Given the description of an element on the screen output the (x, y) to click on. 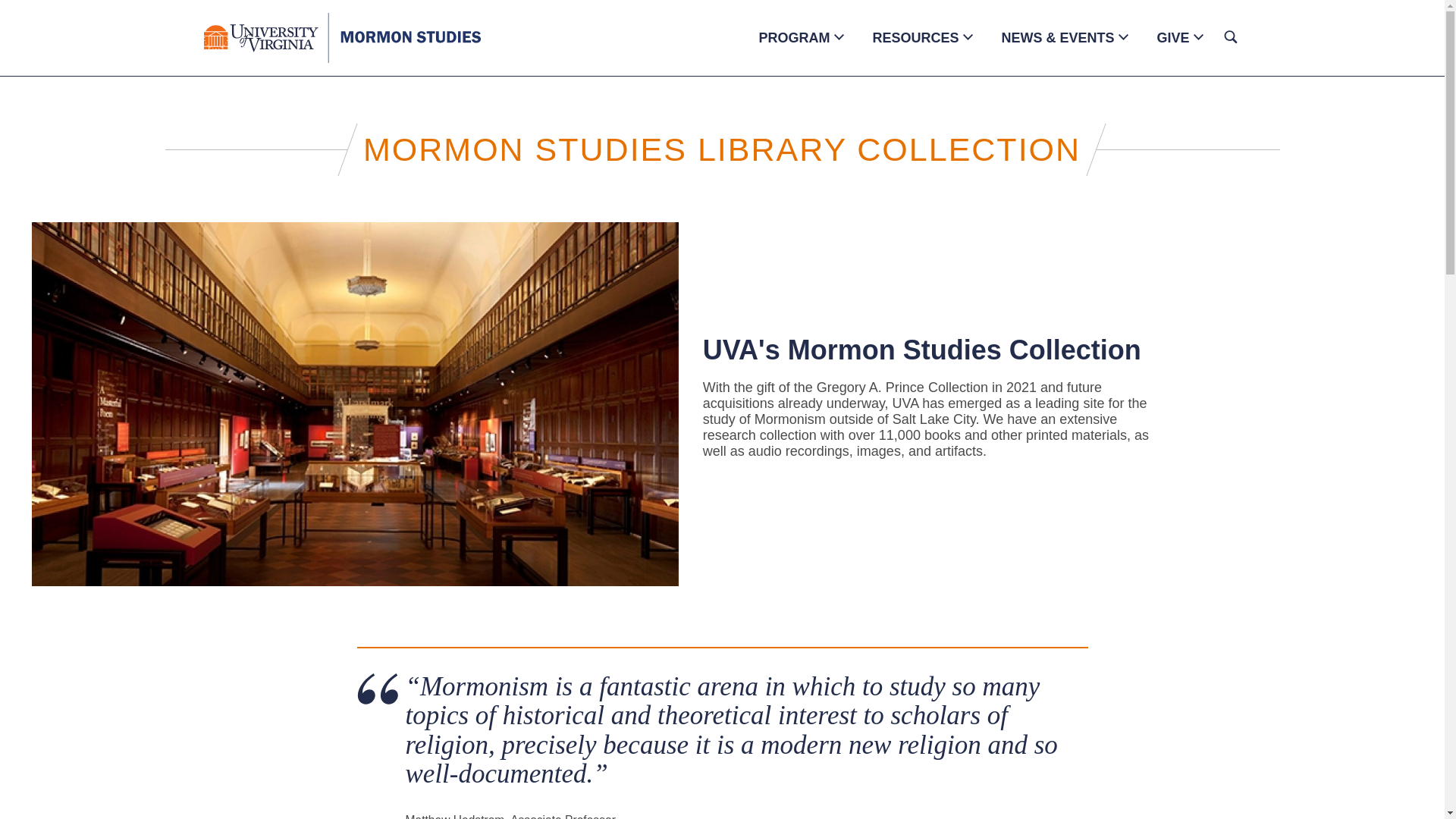
Search (904, 39)
Toggle dropdown Menu (838, 36)
Toggle dropdown Menu (1198, 36)
Toggle dropdown Menu (967, 36)
GIVE (1172, 37)
Toggle dropdown Menu (1122, 36)
PROGRAM (793, 37)
RESOURCES (915, 37)
